Given the description of an element on the screen output the (x, y) to click on. 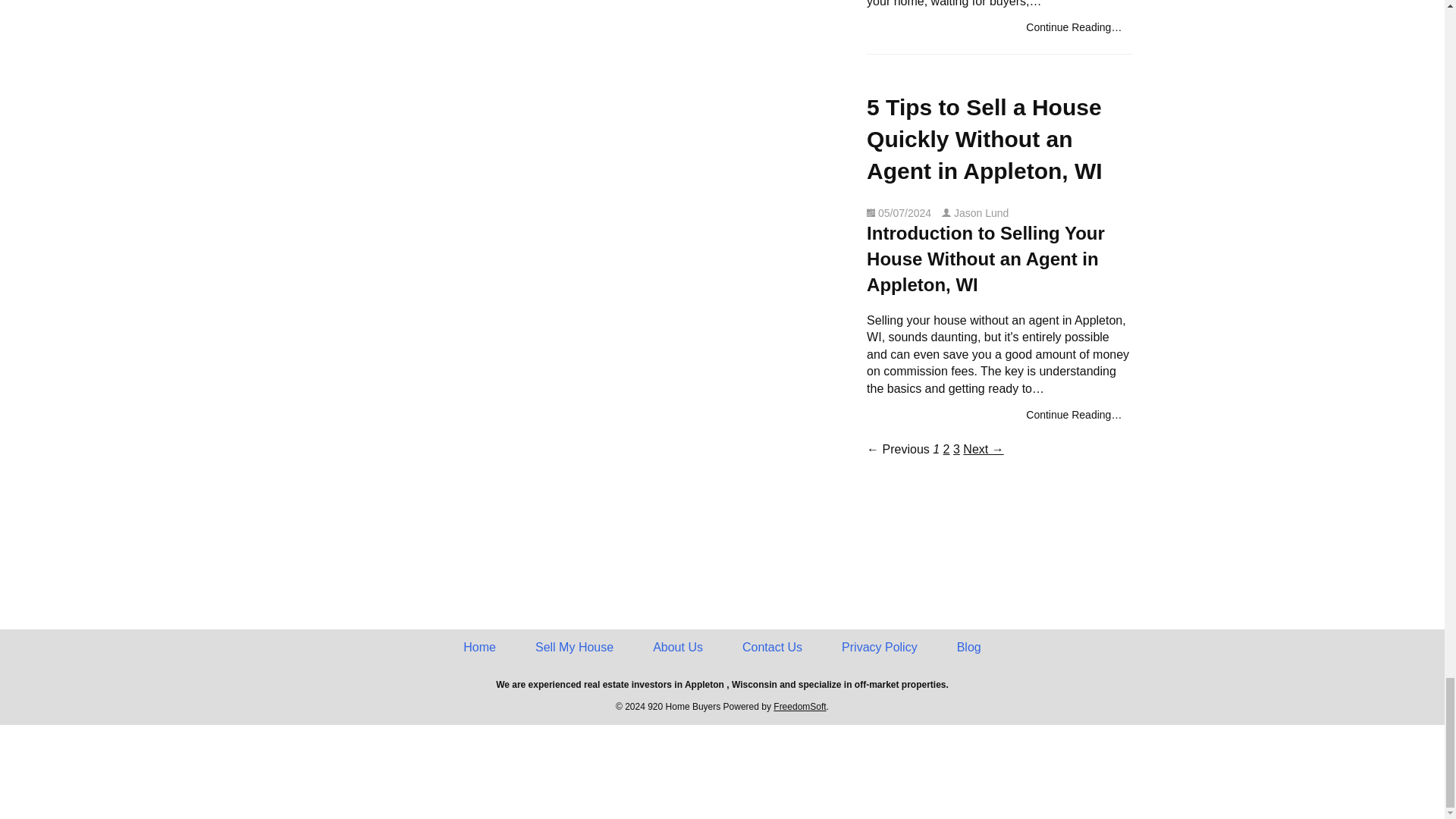
Sell My House (574, 647)
Blog (969, 647)
About Us (677, 647)
3 (956, 449)
920 Home Buyers (479, 647)
Privacy Policy (879, 647)
Contact Us (772, 647)
2 (946, 449)
Faq (946, 449)
Privacy Policy (879, 647)
Sell My House Step 1 (574, 647)
Home (479, 647)
About Us (677, 647)
Contact Us (772, 647)
